Given the description of an element on the screen output the (x, y) to click on. 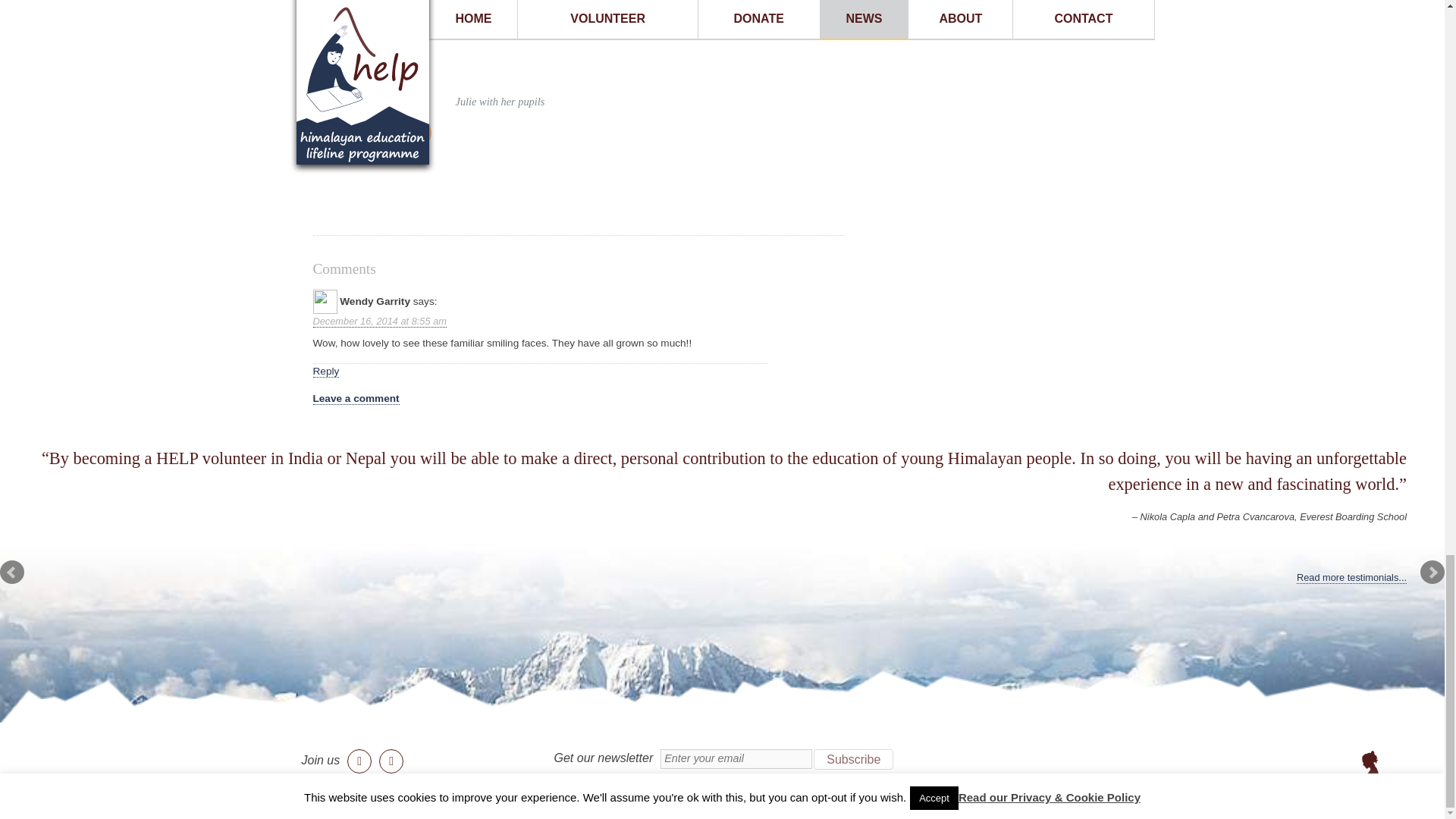
TWITTER (376, 132)
Subscribe (853, 759)
RSS (416, 132)
December 16, 2014 at 8:55 am (379, 321)
Leave a comment (355, 398)
FACEBOOK (337, 132)
Reply (326, 371)
